Given the description of an element on the screen output the (x, y) to click on. 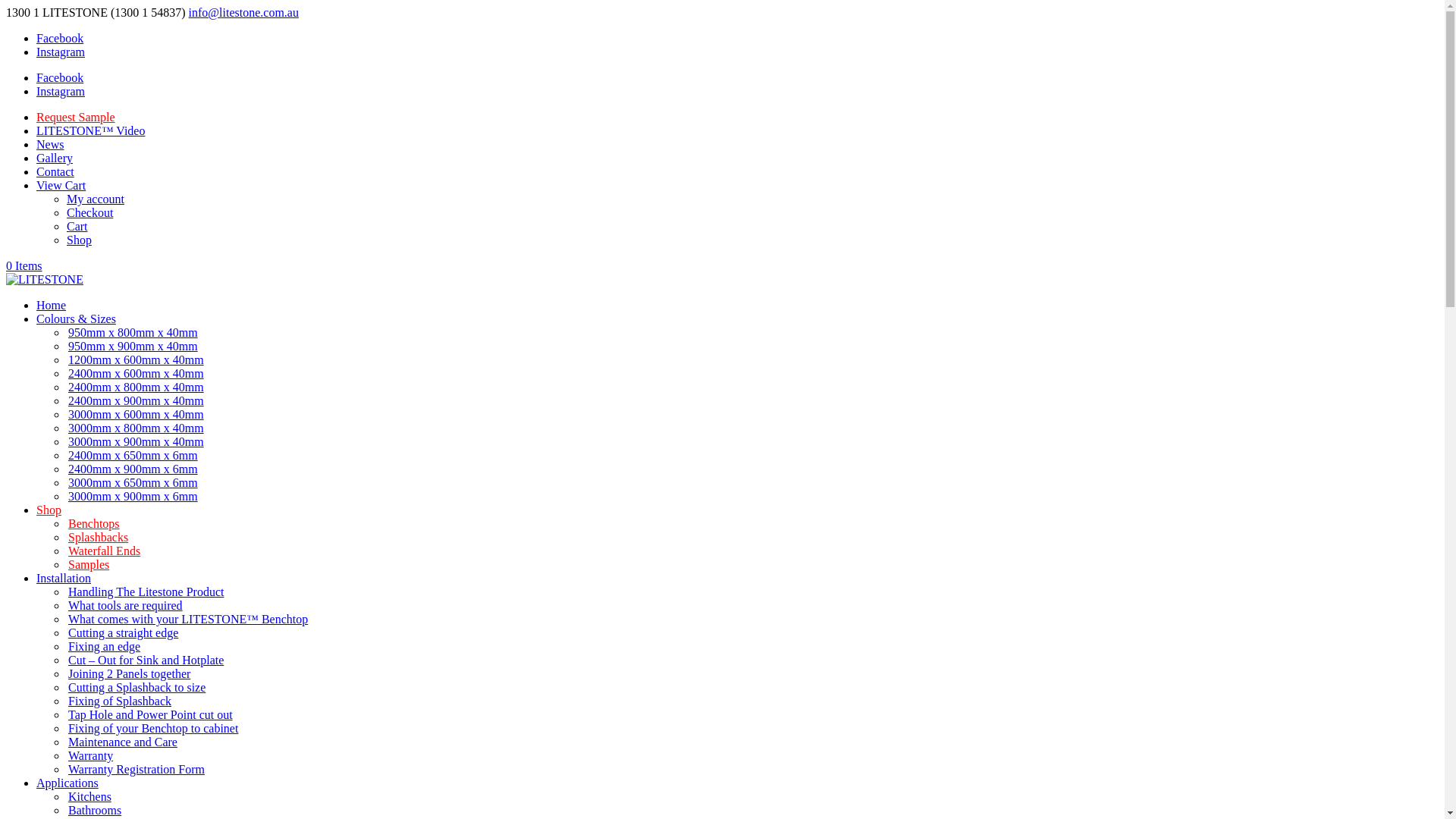
Home Element type: text (50, 304)
Facebook Element type: text (59, 37)
0 Items Element type: text (24, 265)
3000mm x 900mm x 6mm Element type: text (132, 496)
3000mm x 600mm x 40mm Element type: text (135, 414)
Samples Element type: text (88, 564)
Warranty Element type: text (90, 755)
Splashbacks Element type: text (97, 537)
2400mm x 900mm x 6mm Element type: text (132, 468)
Installation Element type: text (63, 577)
Joining 2 Panels together Element type: text (128, 673)
info@litestone.com.au Element type: text (243, 12)
Waterfall Ends Element type: text (103, 550)
Request Sample Element type: text (75, 116)
News Element type: text (49, 144)
950mm x 800mm x 40mm Element type: text (132, 332)
Facebook Element type: text (59, 77)
3000mm x 800mm x 40mm Element type: text (135, 428)
Contact Element type: text (55, 171)
Cutting a straight edge Element type: text (122, 632)
2400mm x 800mm x 40mm Element type: text (135, 387)
Fixing an edge Element type: text (103, 646)
Instagram Element type: text (60, 51)
3000mm x 900mm x 40mm Element type: text (135, 441)
View Cart Element type: text (60, 184)
2400mm x 600mm x 40mm Element type: text (135, 373)
Warranty Registration Form Element type: text (136, 769)
Maintenance and Care Element type: text (122, 741)
3000mm x 650mm x 6mm Element type: text (132, 482)
Cutting a Splashback to size Element type: text (136, 687)
Benchtops Element type: text (93, 523)
Fixing of your Benchtop to cabinet Element type: text (152, 728)
Fixing of Splashback Element type: text (119, 701)
Bathrooms Element type: text (94, 810)
Tap Hole and Power Point cut out Element type: text (150, 714)
1200mm x 600mm x 40mm Element type: text (135, 359)
My account Element type: text (95, 198)
Checkout Element type: text (89, 212)
2400mm x 650mm x 6mm Element type: text (132, 455)
Cart Element type: text (76, 225)
Applications Element type: text (67, 782)
Shop Element type: text (78, 239)
Gallery Element type: text (54, 157)
What tools are required Element type: text (125, 605)
Shop Element type: text (48, 509)
950mm x 900mm x 40mm Element type: text (132, 346)
Colours & Sizes Element type: text (76, 318)
Handling The Litestone Product Element type: text (145, 591)
Kitchens Element type: text (89, 796)
Instagram Element type: text (60, 90)
2400mm x 900mm x 40mm Element type: text (135, 400)
